Given the description of an element on the screen output the (x, y) to click on. 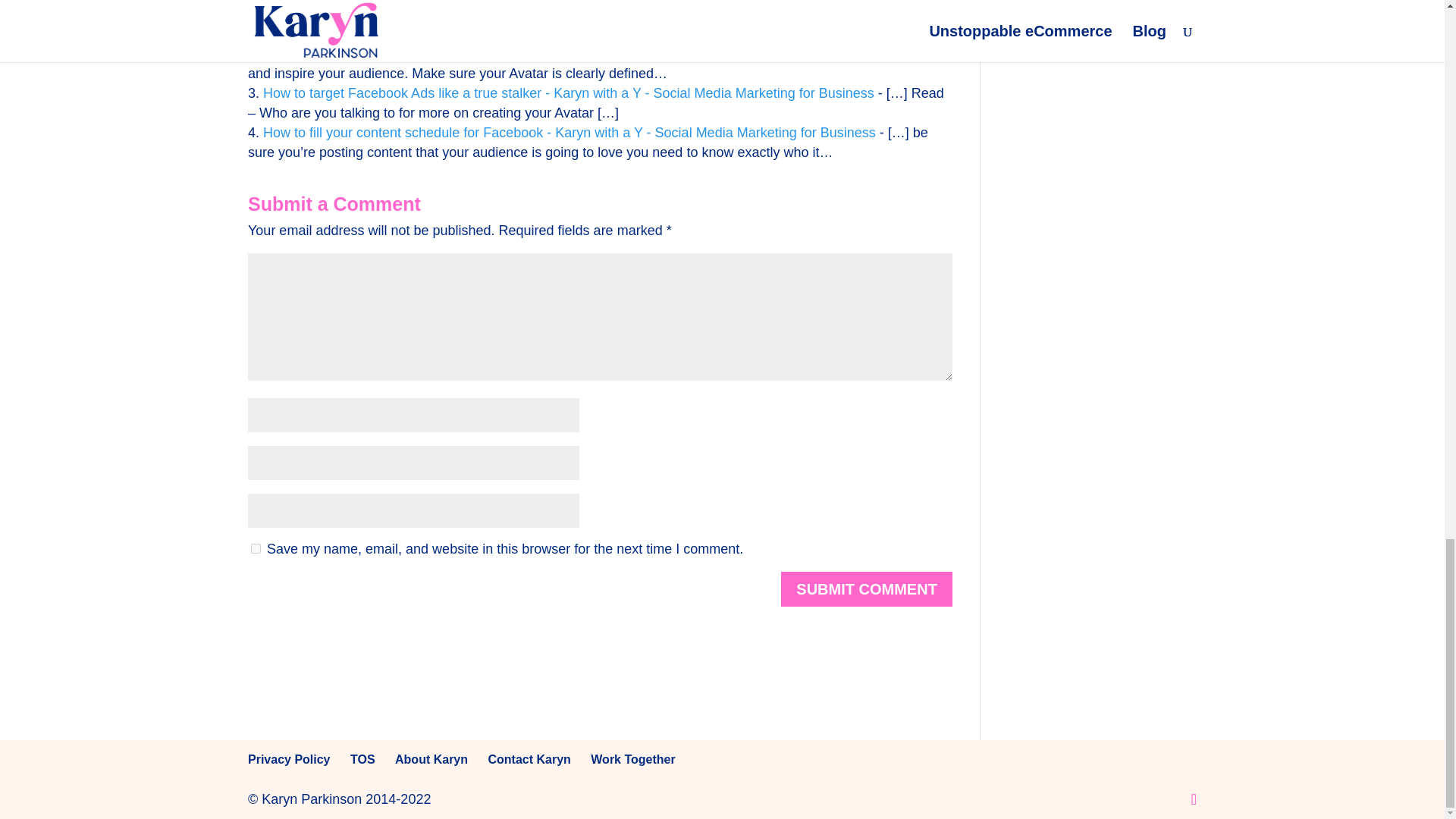
Privacy Policy (288, 758)
yes (255, 548)
TOS (362, 758)
Contact Karyn (528, 758)
Submit Comment (866, 588)
Submit Comment (866, 588)
Stop chasing social media metrics (365, 14)
Unwritten Rules of Social Media Etiquette for business (427, 53)
Work Together (633, 758)
About Karyn (430, 758)
